Given the description of an element on the screen output the (x, y) to click on. 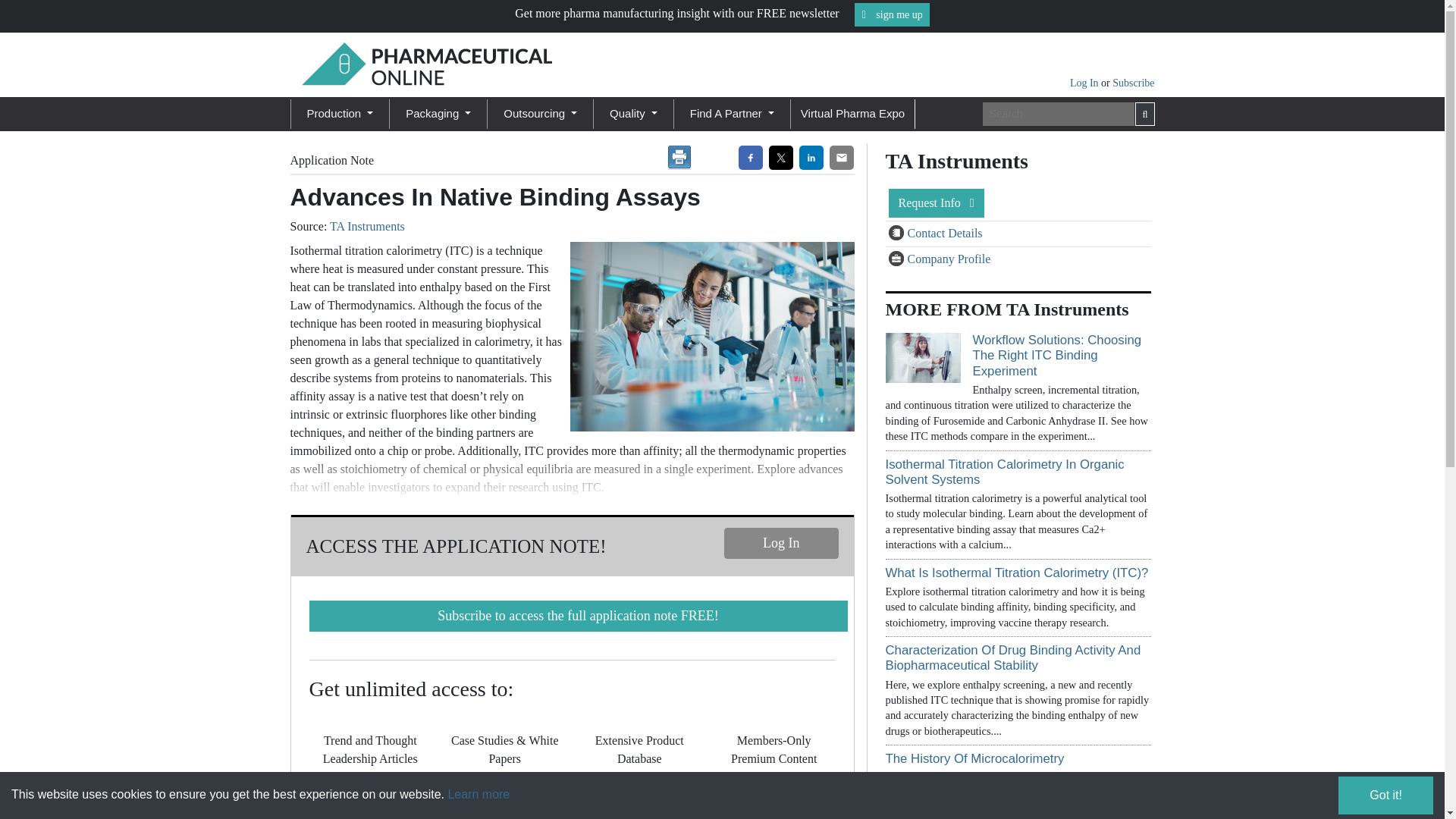
GettyImages-1346675635 Lab Employees (708, 336)
Outsourcing (540, 113)
Quality (633, 113)
Contact Details (897, 233)
TA Instruments (367, 226)
sign me up (892, 14)
Find A Partner (732, 113)
Log In (1085, 82)
Subscribe to access the full application note FREE! (577, 615)
Log In (780, 542)
